Given the description of an element on the screen output the (x, y) to click on. 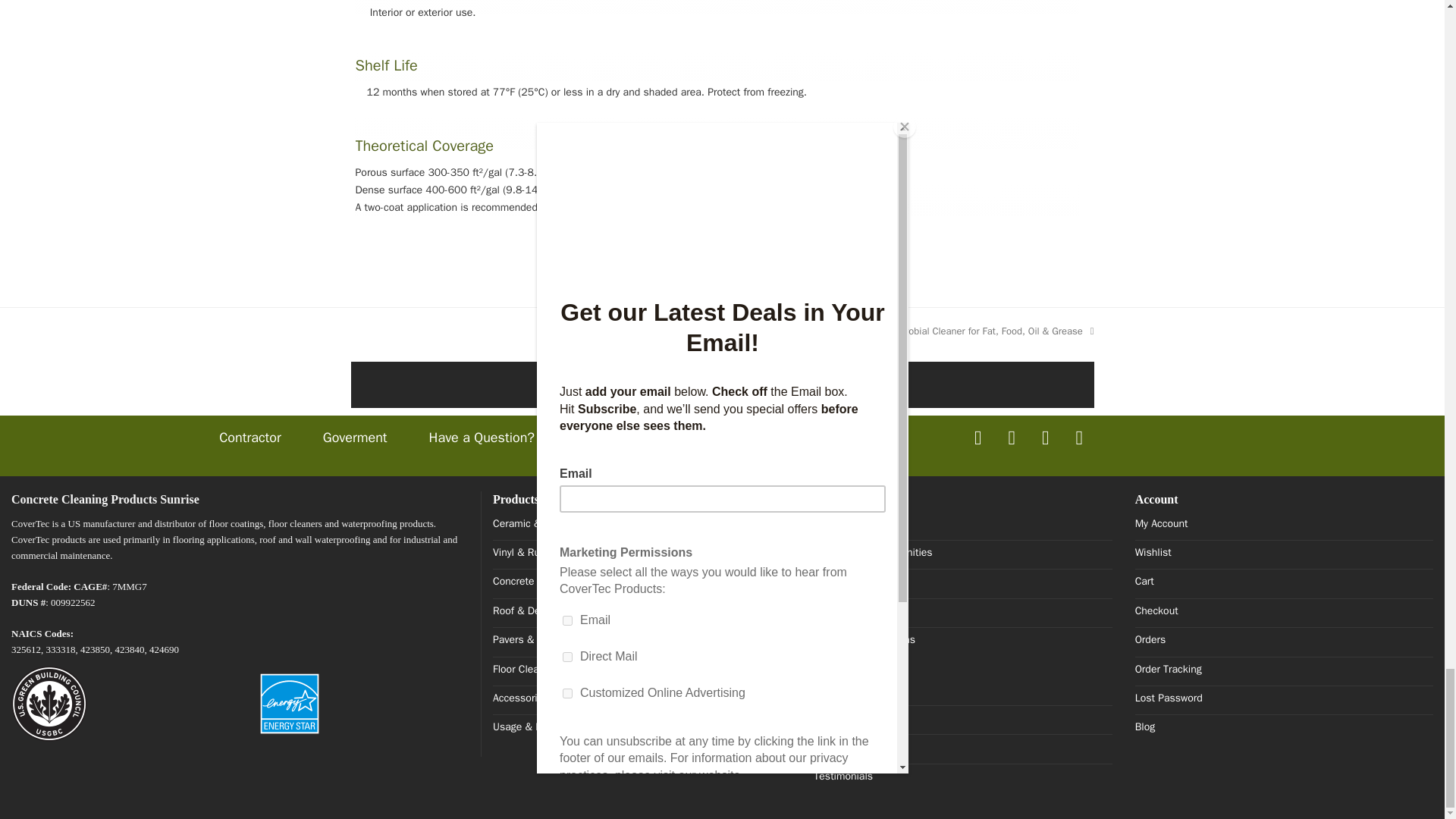
US Green Building Council (49, 703)
Energy Star (289, 703)
